Given the description of an element on the screen output the (x, y) to click on. 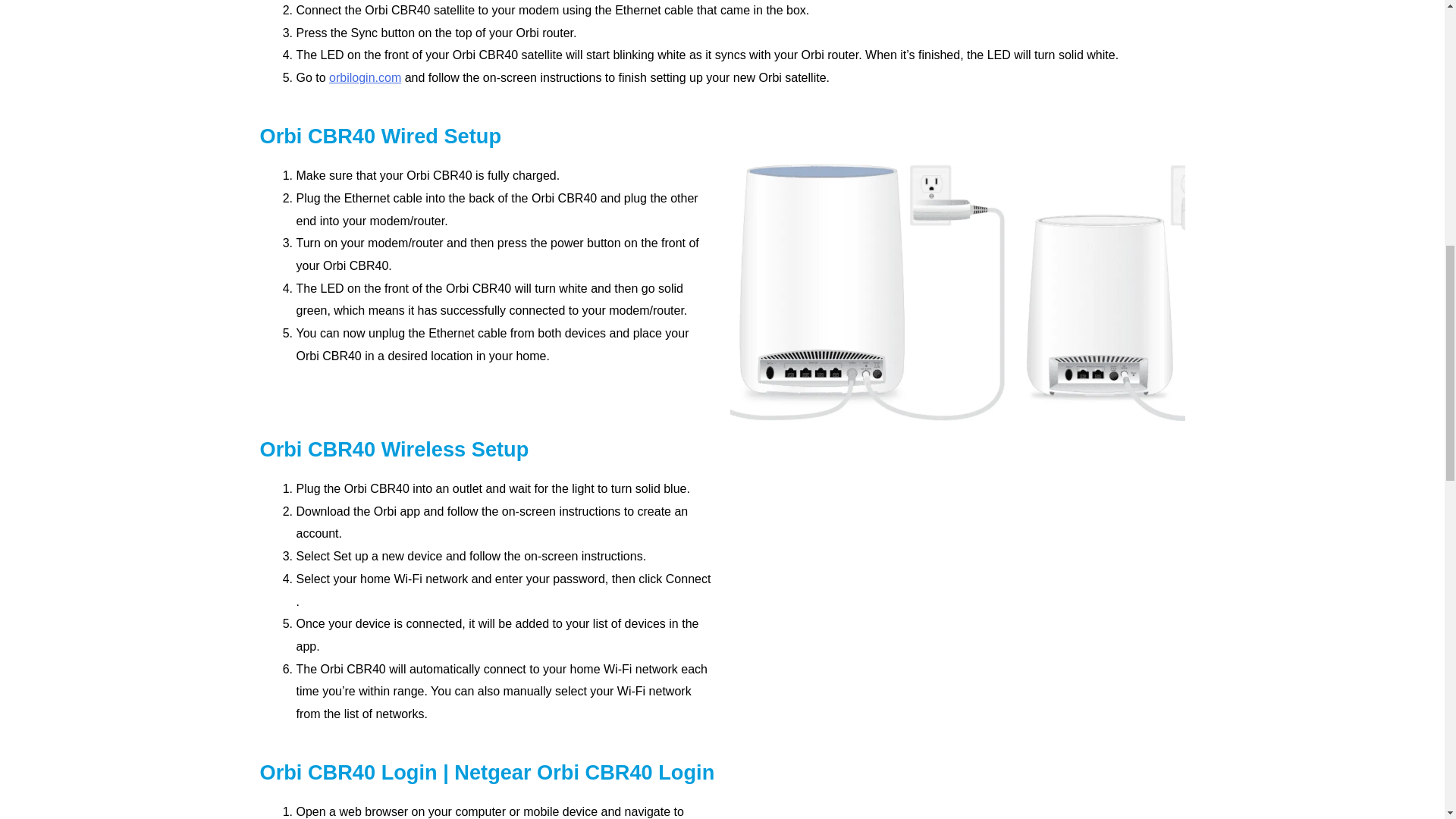
orbilogin.com (365, 77)
